Given the description of an element on the screen output the (x, y) to click on. 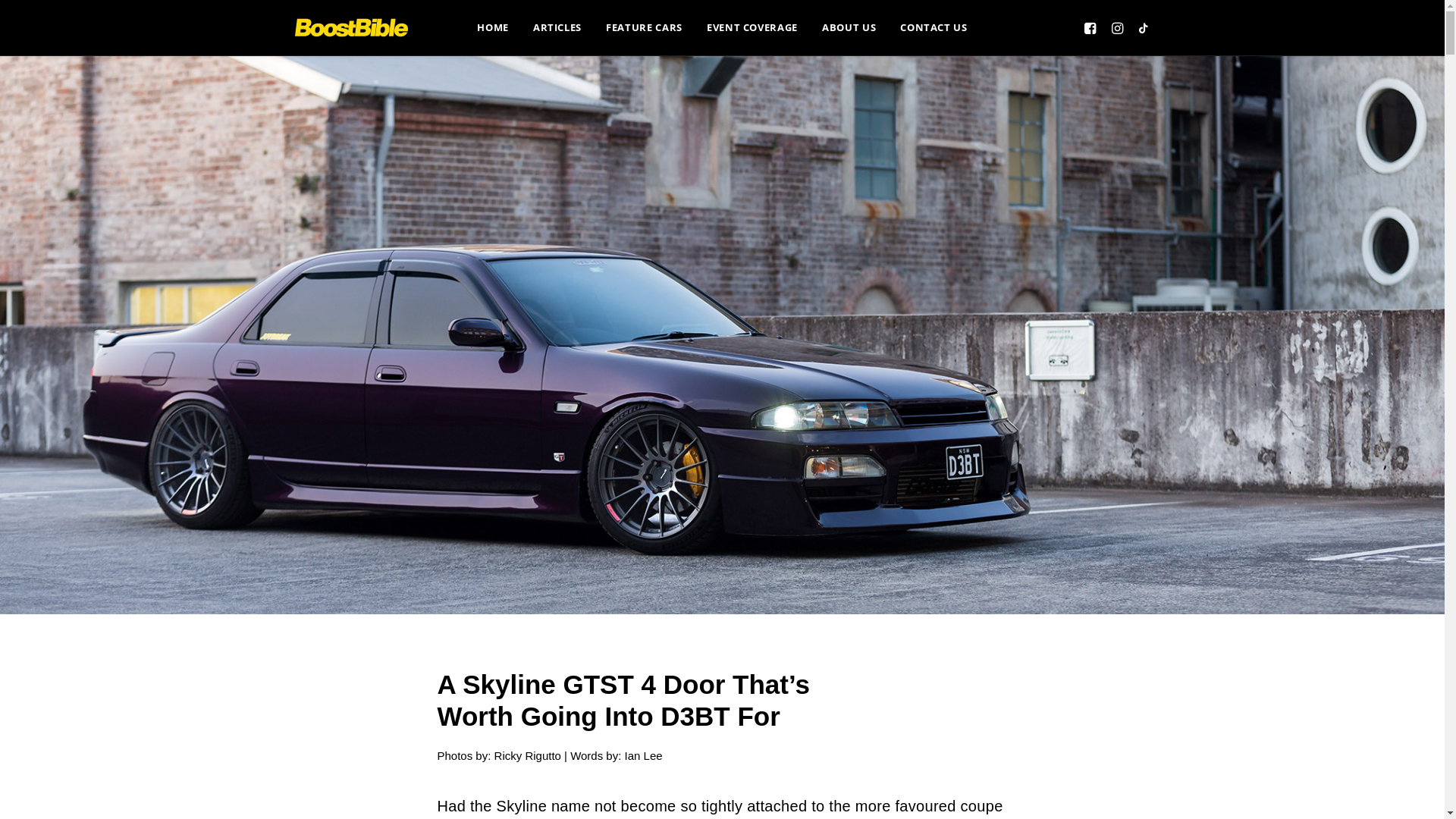
CONTACT US Element type: text (933, 27)
FEATURE CARS Element type: text (644, 27)
EVENT COVERAGE Element type: text (752, 27)
ARTICLES Element type: text (557, 27)
ABOUT US Element type: text (848, 27)
HOME Element type: text (492, 27)
